Given the description of an element on the screen output the (x, y) to click on. 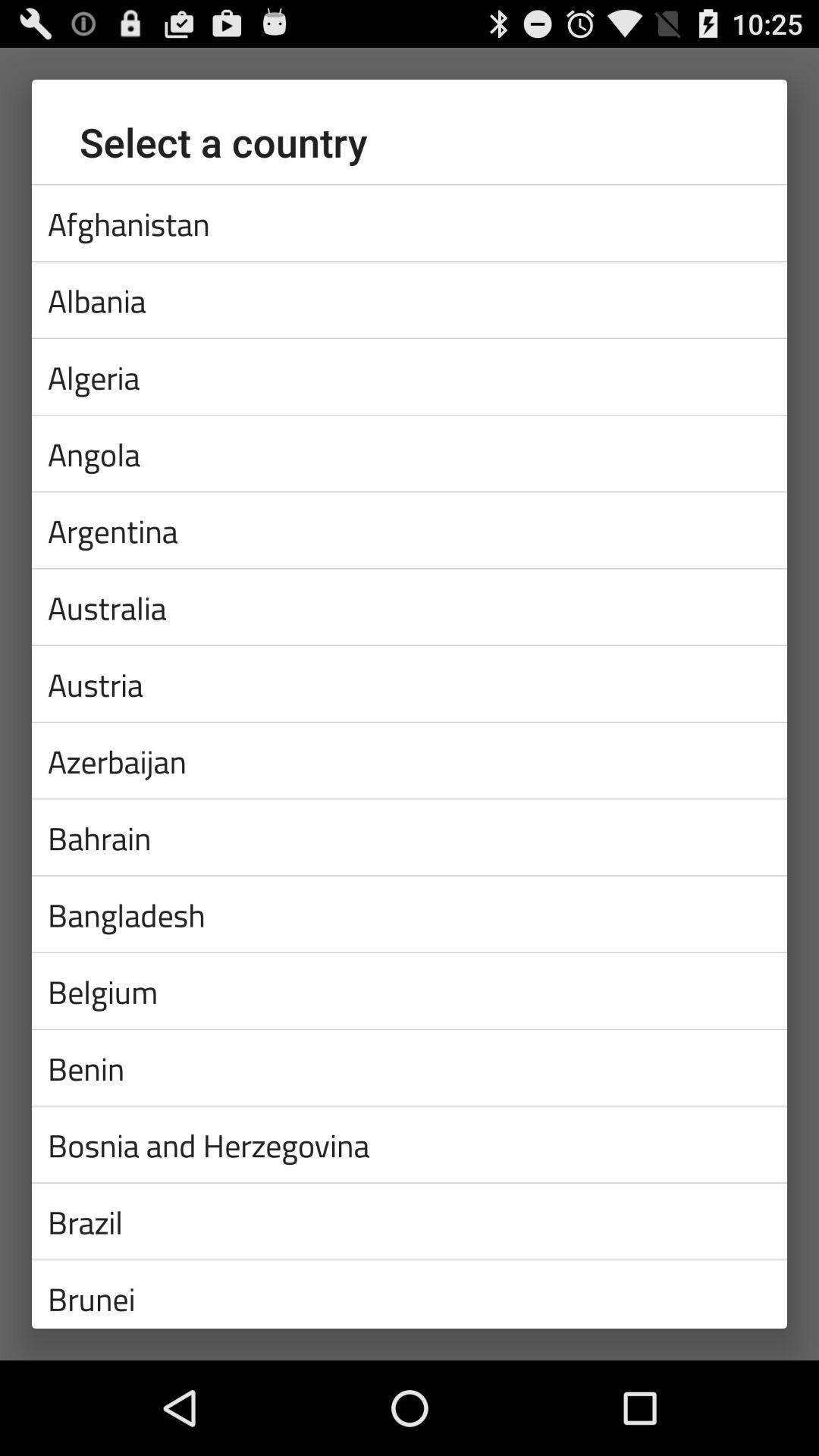
jump until the bahrain icon (409, 837)
